Given the description of an element on the screen output the (x, y) to click on. 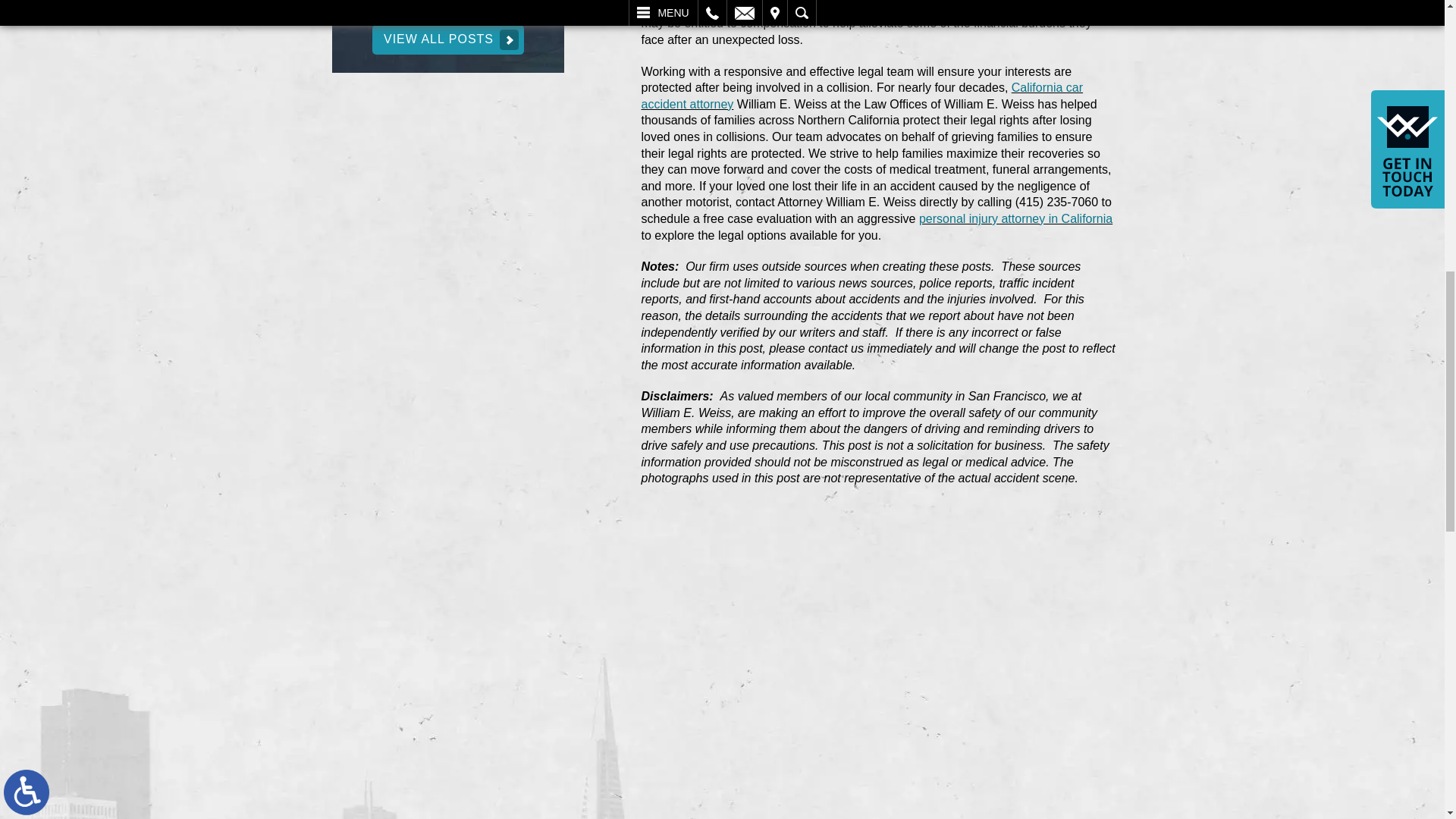
wrongful death lawyer California (956, 6)
California car accident attorney (862, 95)
personal injury attorney in California (1015, 218)
